Given the description of an element on the screen output the (x, y) to click on. 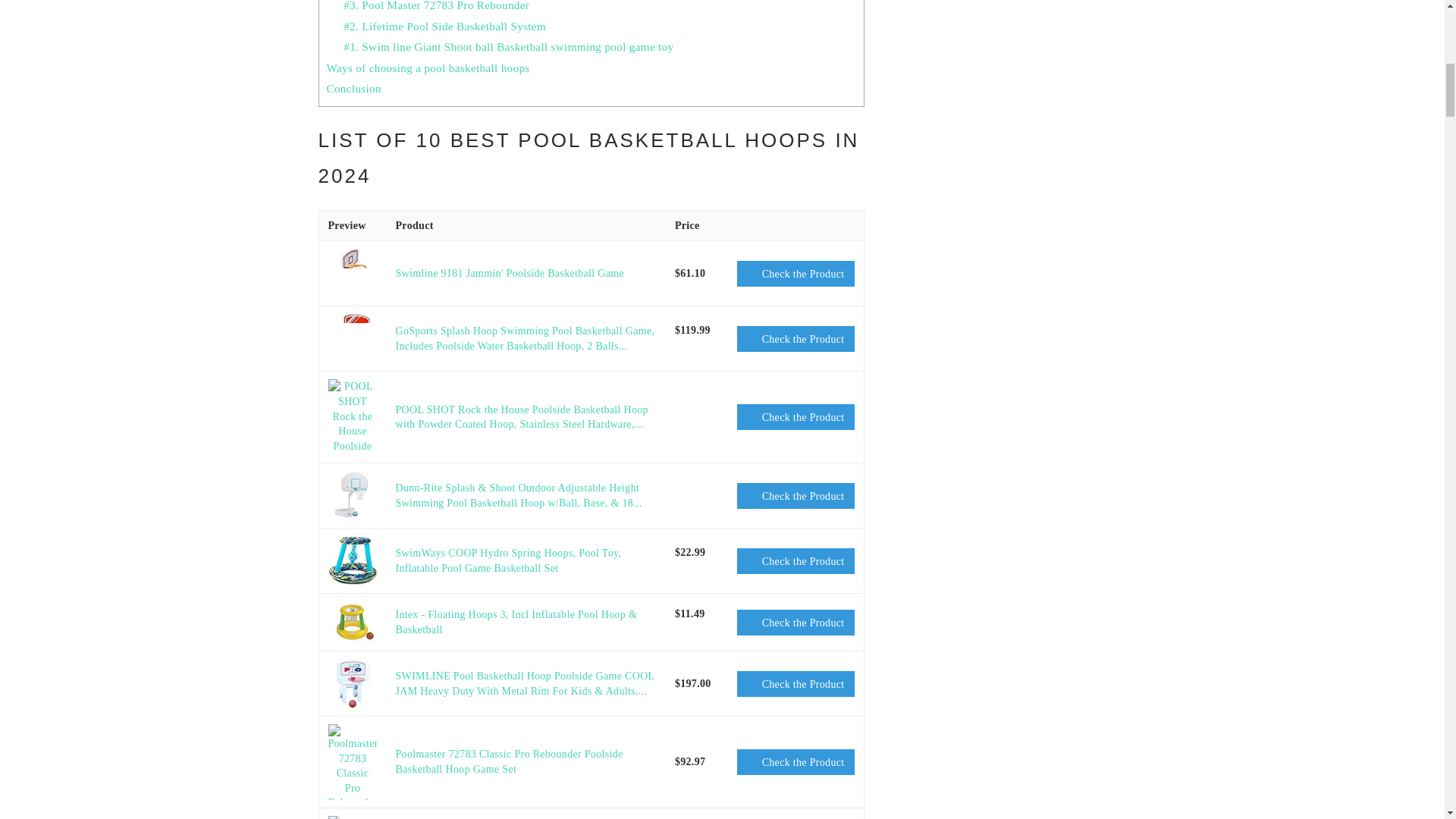
Swimline 9181 Jammin' Poolside Basketball Game (352, 273)
Amazon Prime (695, 347)
Check the Product (795, 338)
Check the Product (795, 416)
Swimline 9181 Jammin' Poolside Basketball Game (510, 273)
Check the Product (795, 273)
Check the Product (795, 273)
Conclusion (353, 88)
Ways of choosing a pool basketball hoops (427, 67)
Swimline 9181 Jammin' Poolside Basketball Game (510, 273)
